Given the description of an element on the screen output the (x, y) to click on. 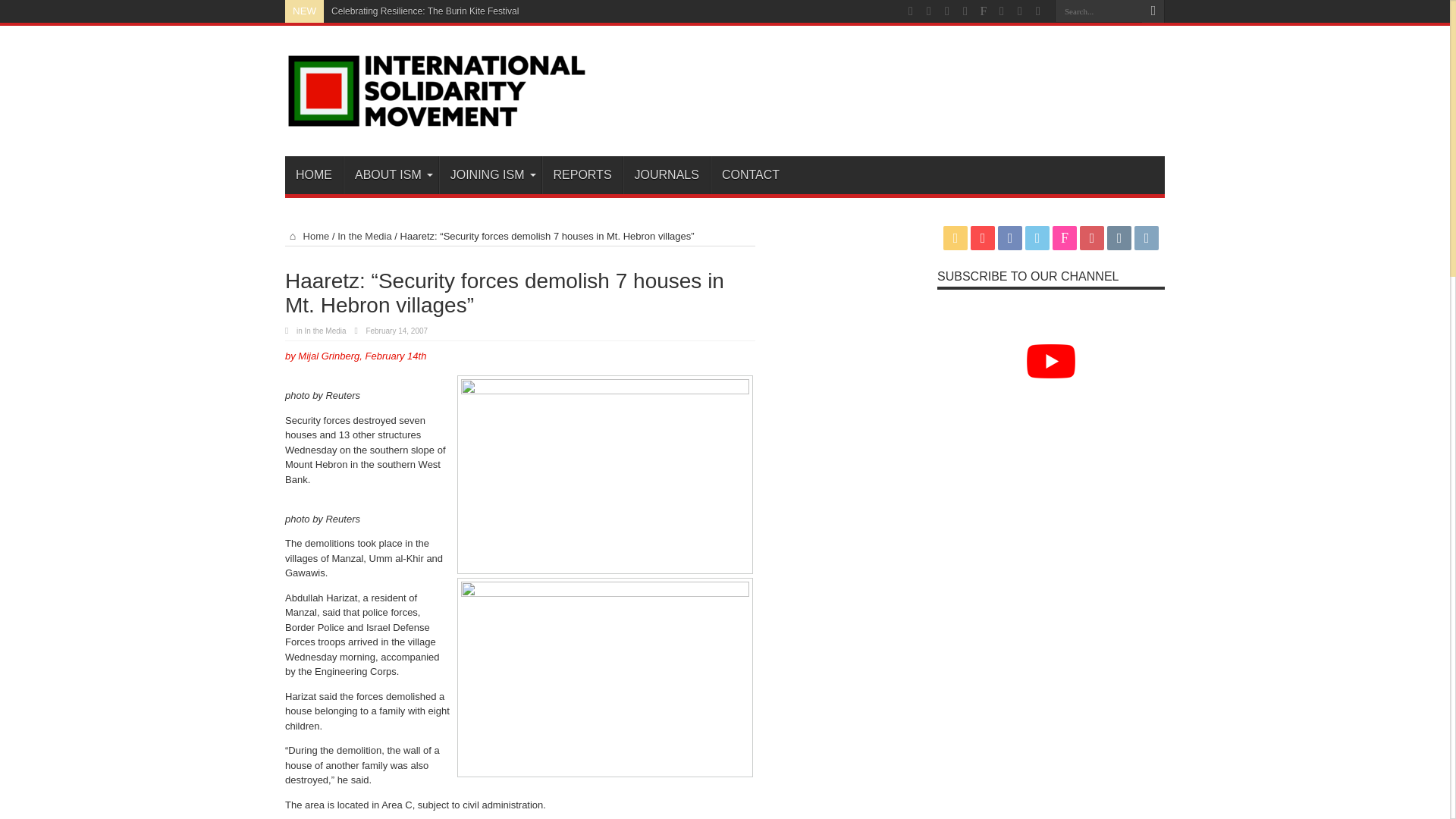
by Mijal Grinberg, February 14th (355, 355)
In the Media (325, 330)
Search... (1097, 11)
ABOUT ISM (390, 175)
Celebrating Resilience: The Burin Kite Festival (424, 11)
CONTACT (750, 175)
JOURNALS (666, 175)
Home (307, 235)
REPORTS (581, 175)
JOINING ISM (490, 175)
